Given the description of an element on the screen output the (x, y) to click on. 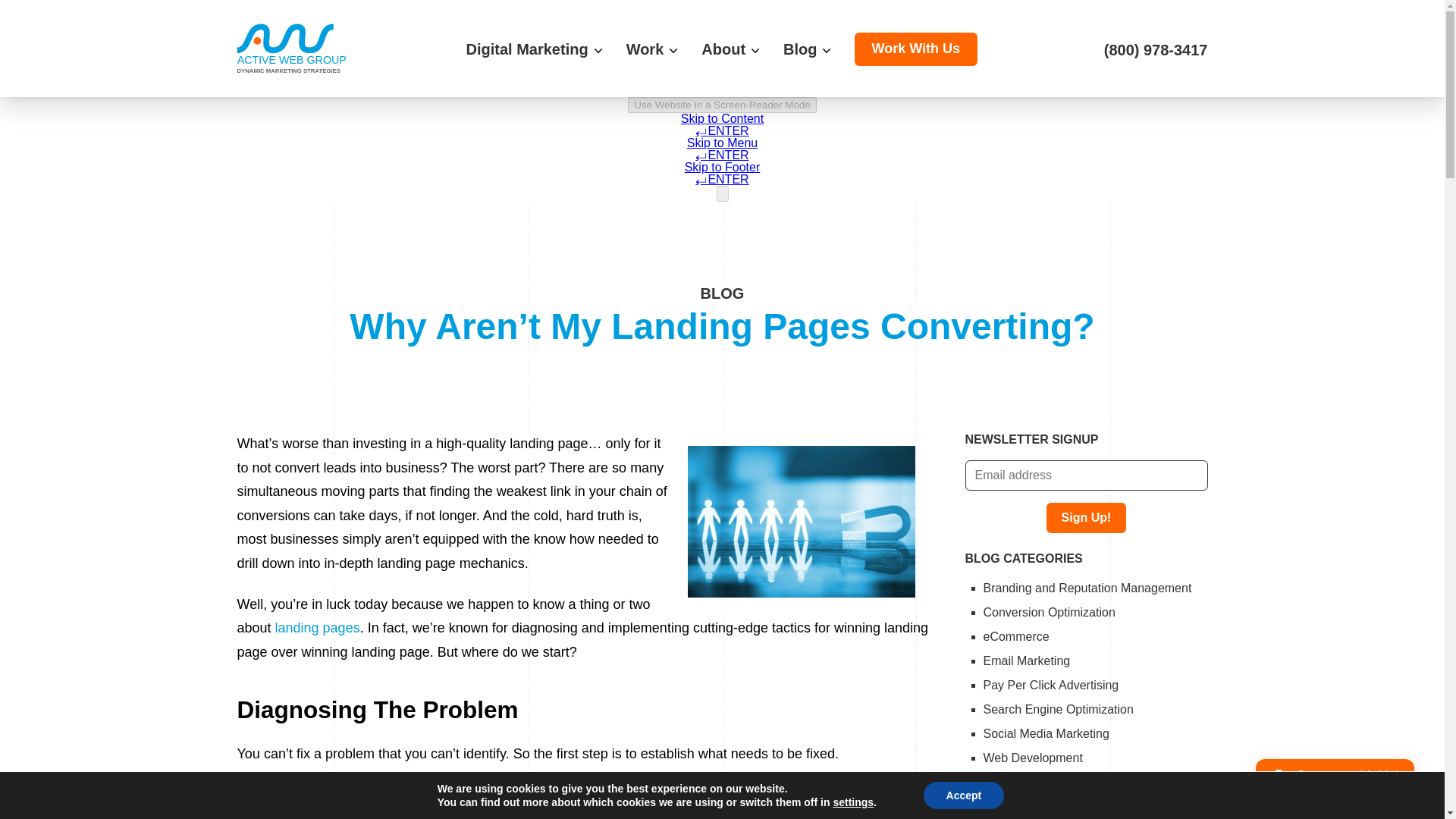
ACTIVE WEB GROUP (285, 45)
Sign Up! (1086, 517)
Blog (806, 49)
Work (652, 49)
Work With Us (915, 49)
Digital Marketing (533, 49)
About (729, 49)
ACTIVE WEB GROUP (284, 48)
